Given the description of an element on the screen output the (x, y) to click on. 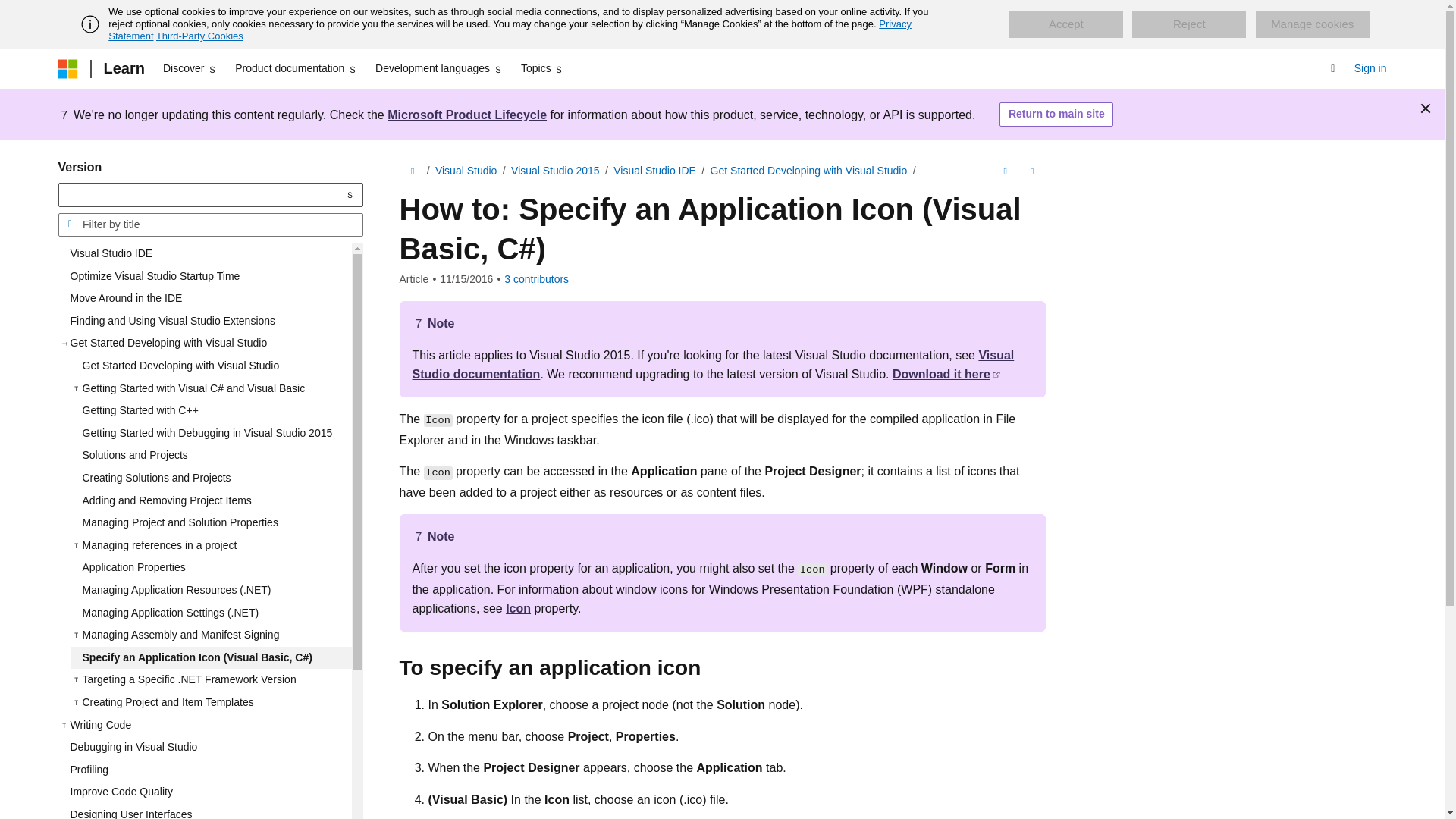
Sign in (1370, 68)
Product documentation (295, 68)
Privacy Statement (509, 29)
Microsoft Product Lifecycle (467, 114)
Move Around in the IDE (204, 298)
Optimize Visual Studio Startup Time (204, 276)
Solutions and Projects (209, 455)
Visual Studio IDE (204, 253)
Development languages (438, 68)
Get Started Developing with Visual Studio (209, 365)
Accept (1065, 23)
More actions (1031, 170)
Getting Started with Debugging in Visual Studio 2015 (209, 433)
Manage cookies (1312, 23)
Creating Solutions and Projects (209, 477)
